Given the description of an element on the screen output the (x, y) to click on. 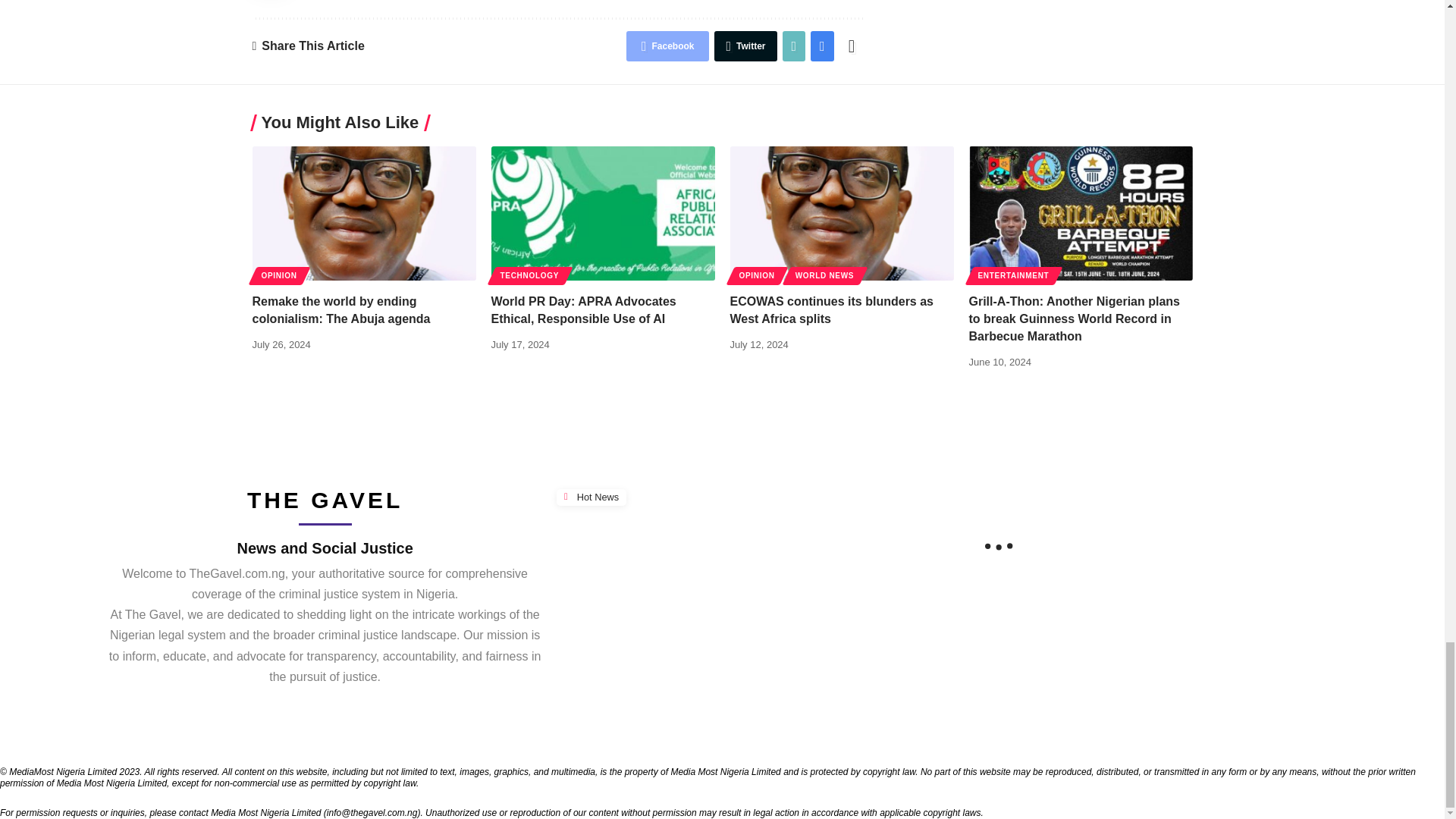
Remake the world by ending colonialism: The Abuja agenda (363, 213)
World PR Day: APRA Advocates Ethical, Responsible Use of AI (603, 213)
ECOWAS continues its blunders as West Africa splits (841, 213)
